Given the description of an element on the screen output the (x, y) to click on. 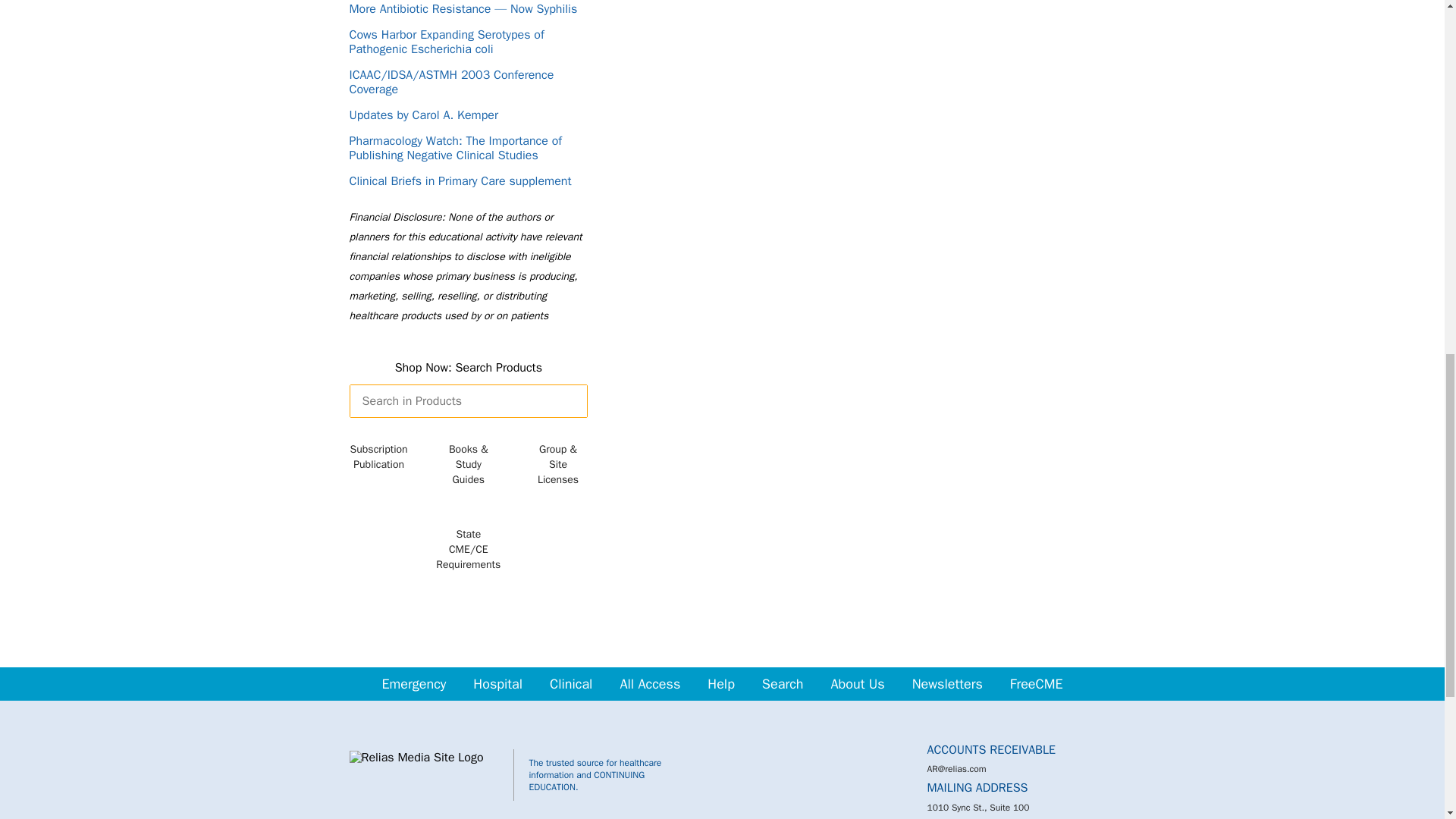
Clinical Briefs in Primary Care supplement (459, 181)
Updates by Carol A. Kemper (423, 115)
